Given the description of an element on the screen output the (x, y) to click on. 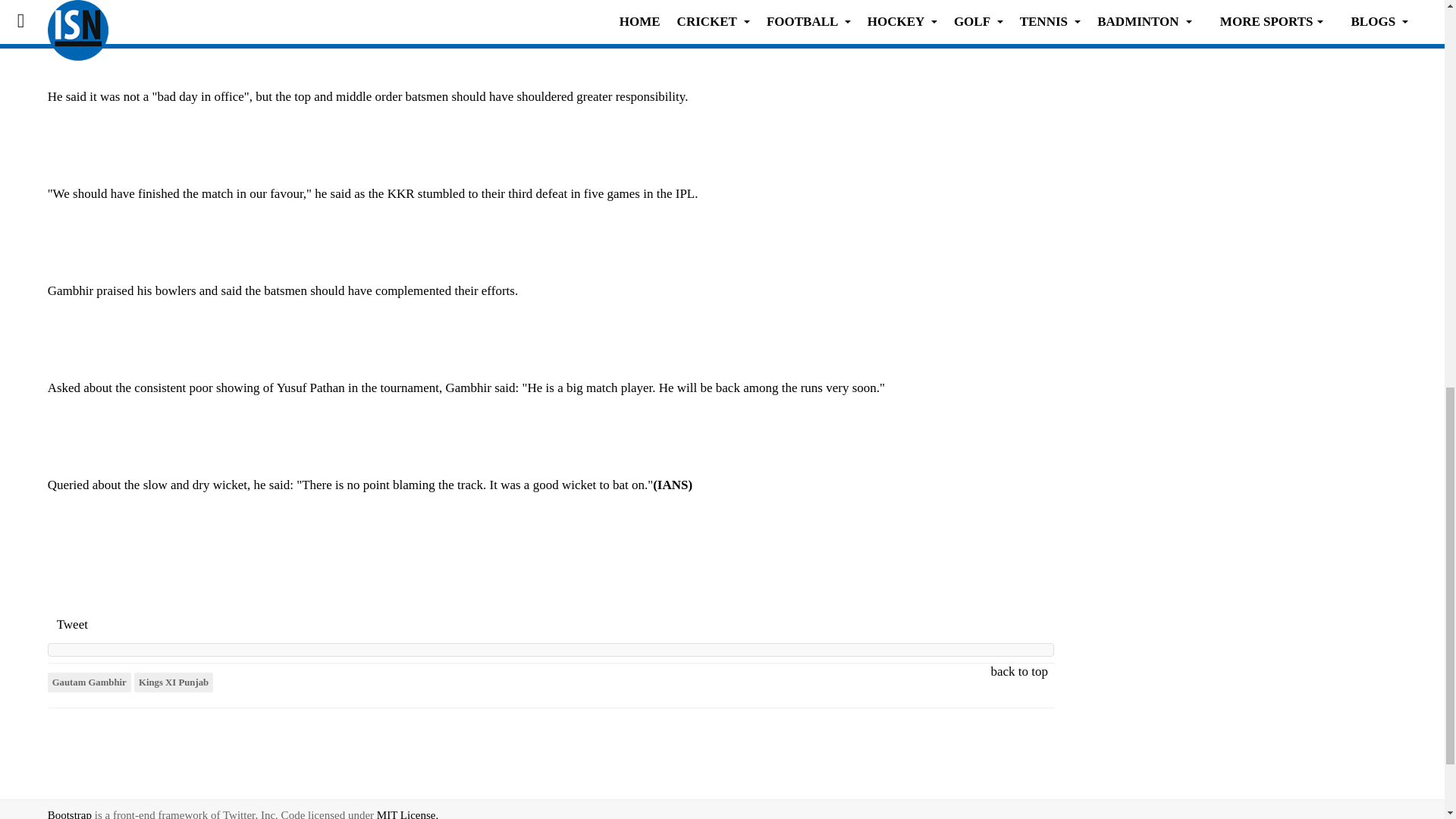
Bootstrap by Twitter (69, 814)
Back to Top (1411, 809)
MIT License (407, 814)
